Given the description of an element on the screen output the (x, y) to click on. 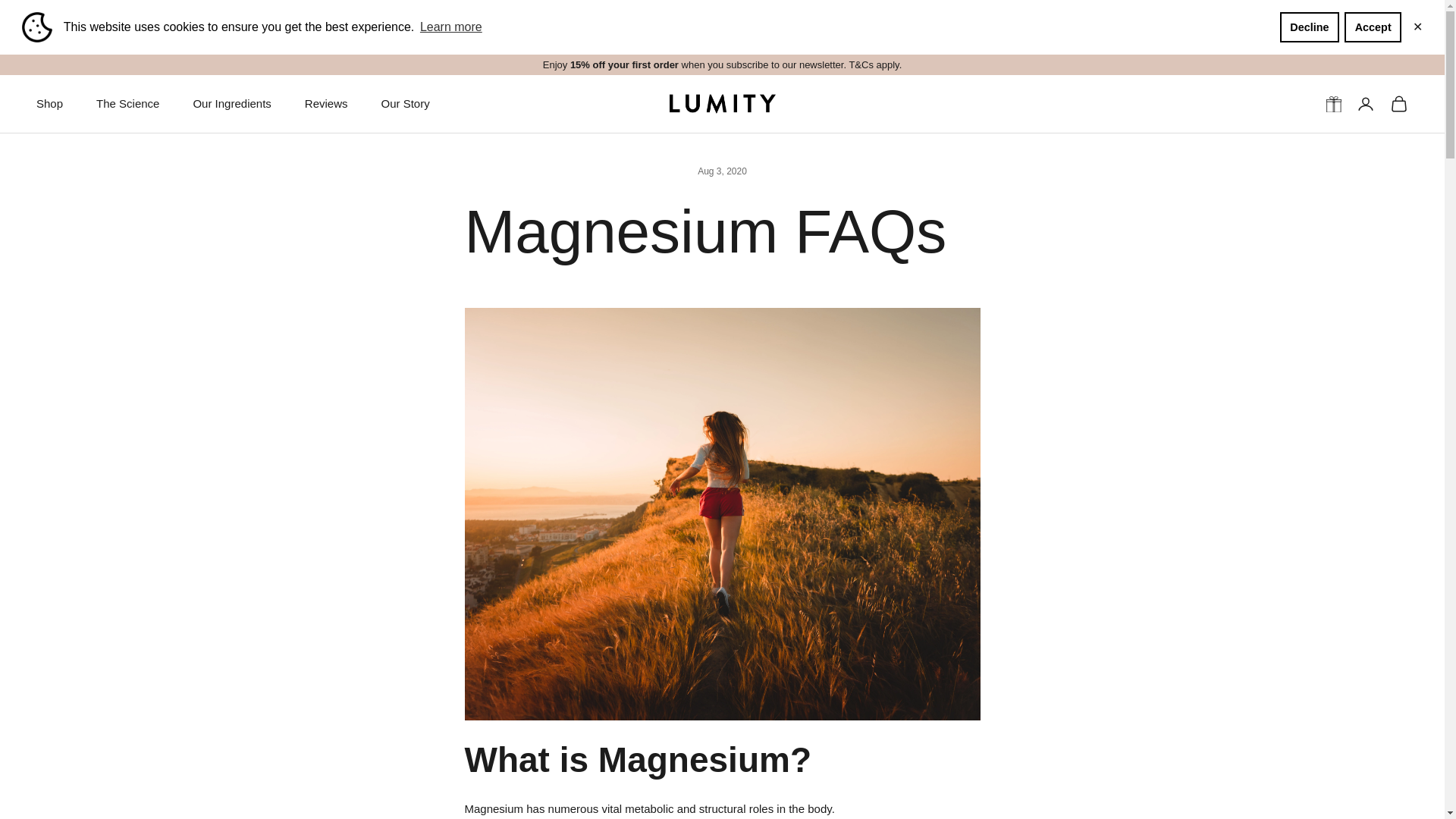
Rewards (1333, 104)
The Science (127, 104)
Our Story (405, 104)
Decline (1309, 27)
Learn more (450, 26)
Accept (1371, 27)
Reviews (325, 104)
Our Ingredients (231, 104)
Newsletter Sign Up (722, 64)
Open account page (1365, 104)
